Given the description of an element on the screen output the (x, y) to click on. 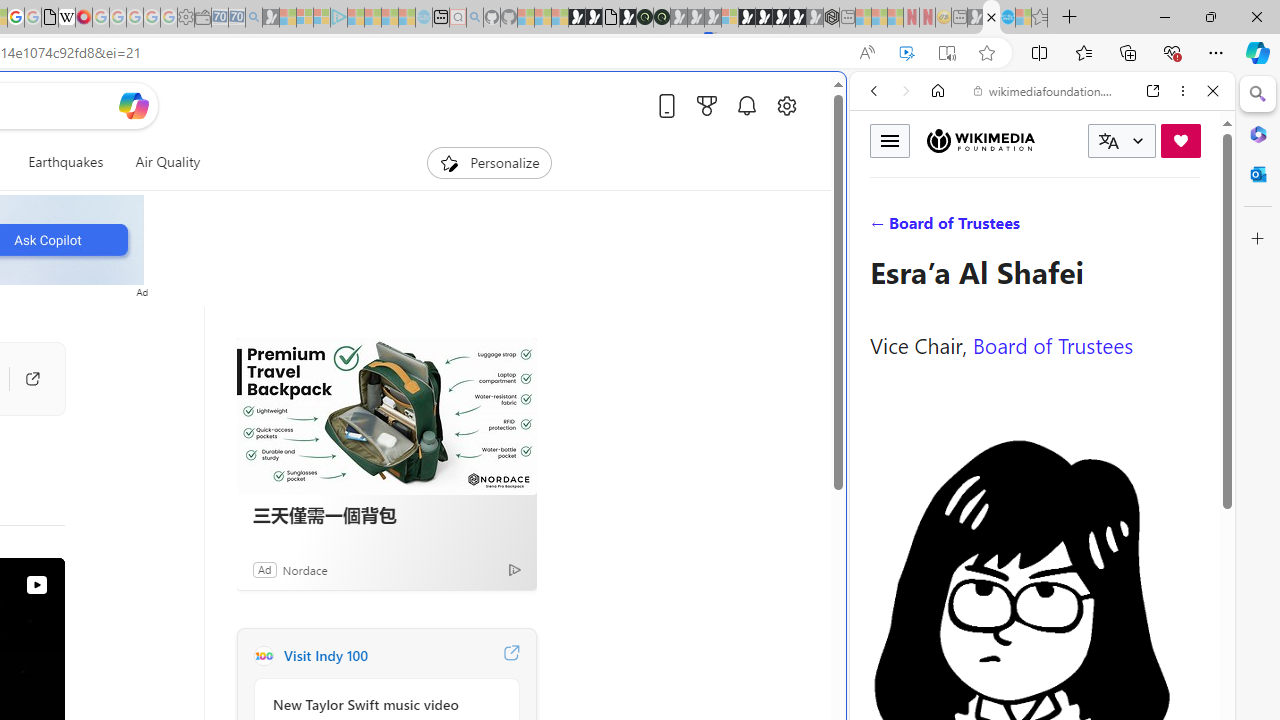
WEB   (882, 228)
Earthquakes (65, 162)
wikimediafoundation.org (1045, 90)
Enhance video (906, 53)
Wiktionary (1034, 669)
